Given the description of an element on the screen output the (x, y) to click on. 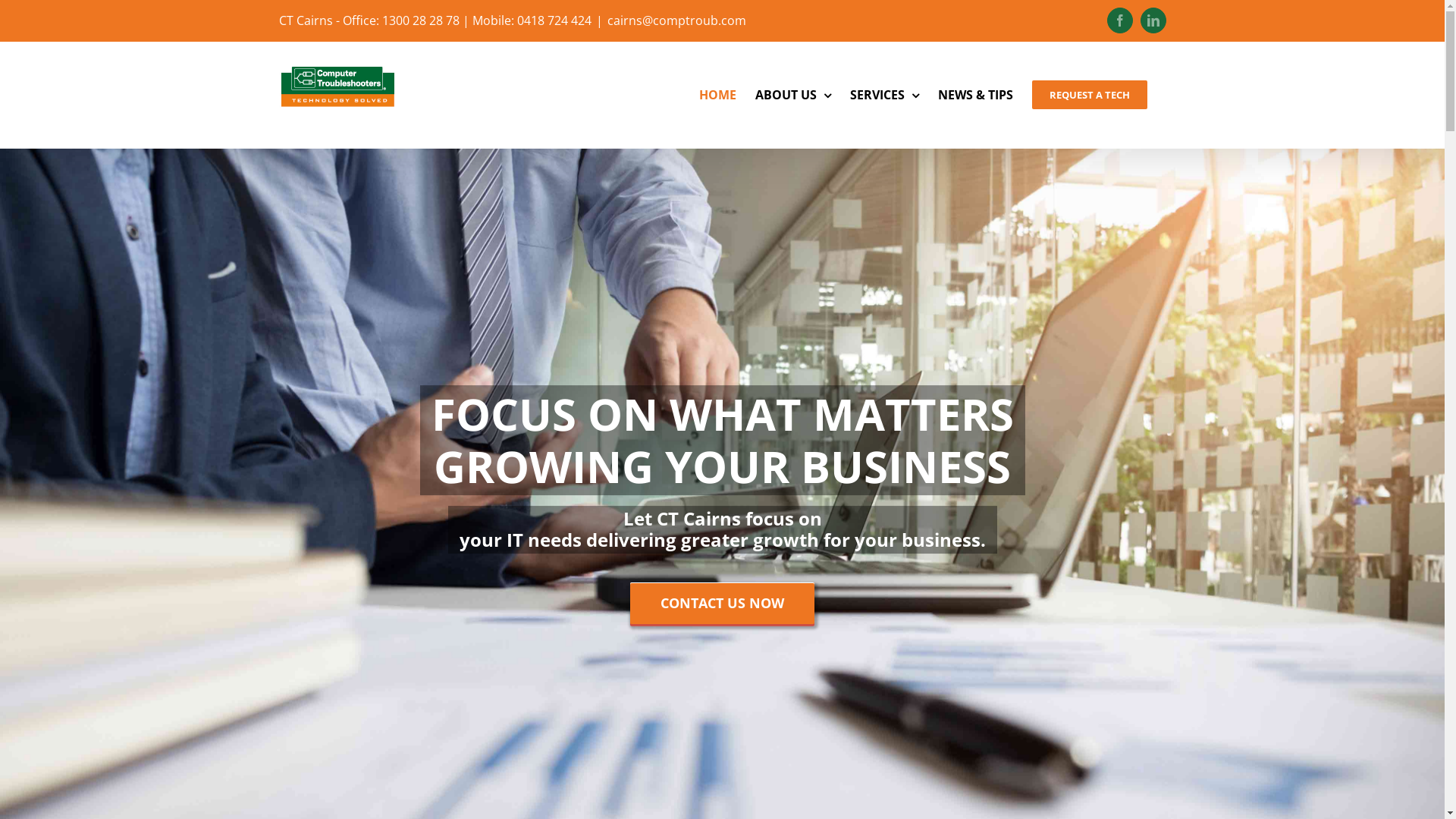
cairns@comptroub.com Element type: text (675, 20)
REQUEST A TECH Element type: text (1088, 94)
SERVICES Element type: text (883, 94)
Facebook Element type: text (1119, 20)
NEWS & TIPS Element type: text (974, 94)
HOME Element type: text (717, 94)
ABOUT US Element type: text (793, 94)
CONTACT US NOW Element type: text (722, 603)
LinkedIn Element type: text (1153, 20)
